Given the description of an element on the screen output the (x, y) to click on. 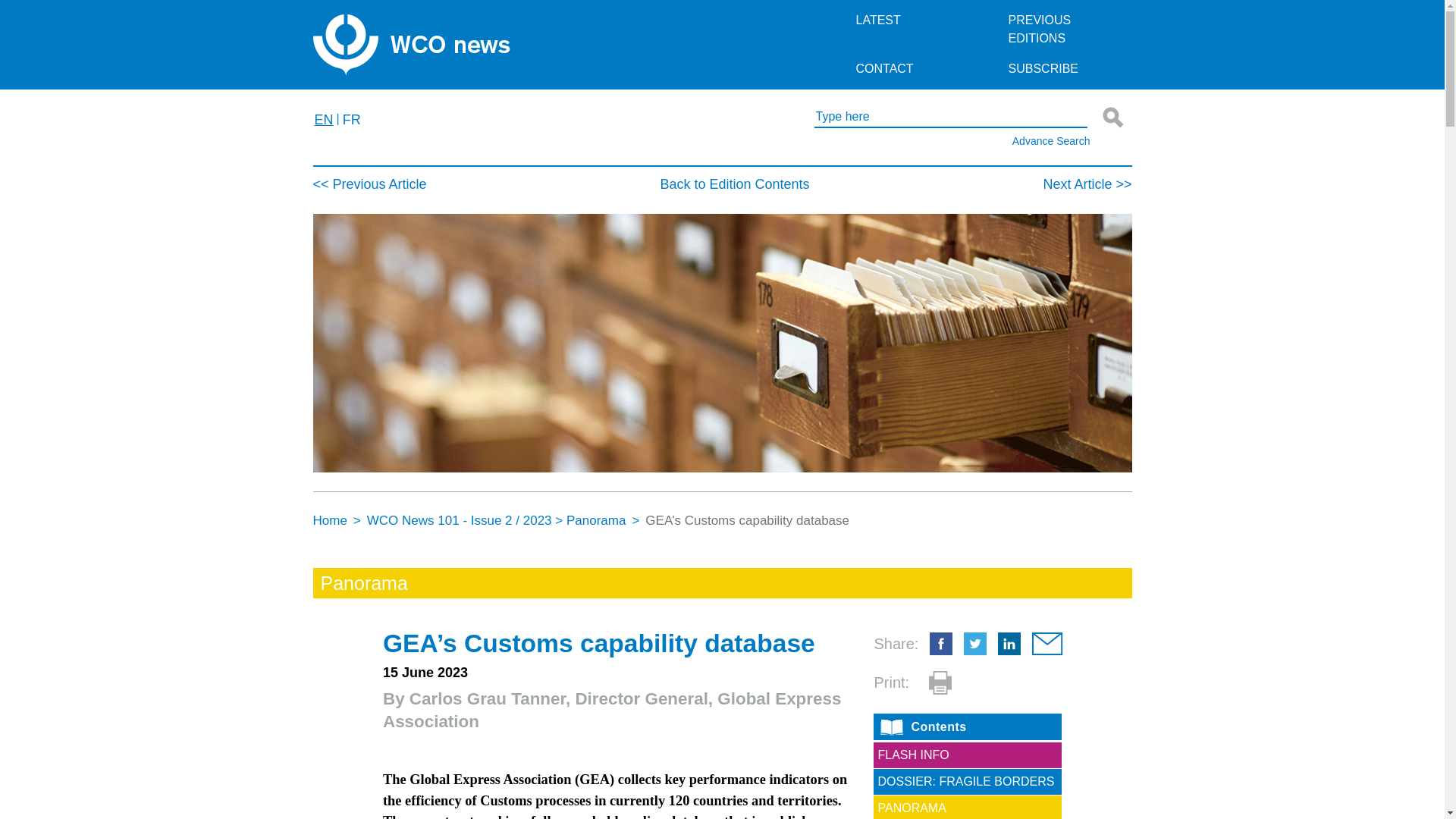
Panorama (596, 520)
PREVIOUS EDITIONS (1067, 29)
Back to Edition Contents (734, 183)
Contact (913, 69)
LATEST (913, 20)
CONTACT (913, 69)
Panorama (363, 582)
FR (351, 119)
Home (329, 520)
WCO (411, 44)
Advance Search (911, 141)
Latest (913, 20)
EN (323, 119)
Previous Editions (1067, 29)
